Given the description of an element on the screen output the (x, y) to click on. 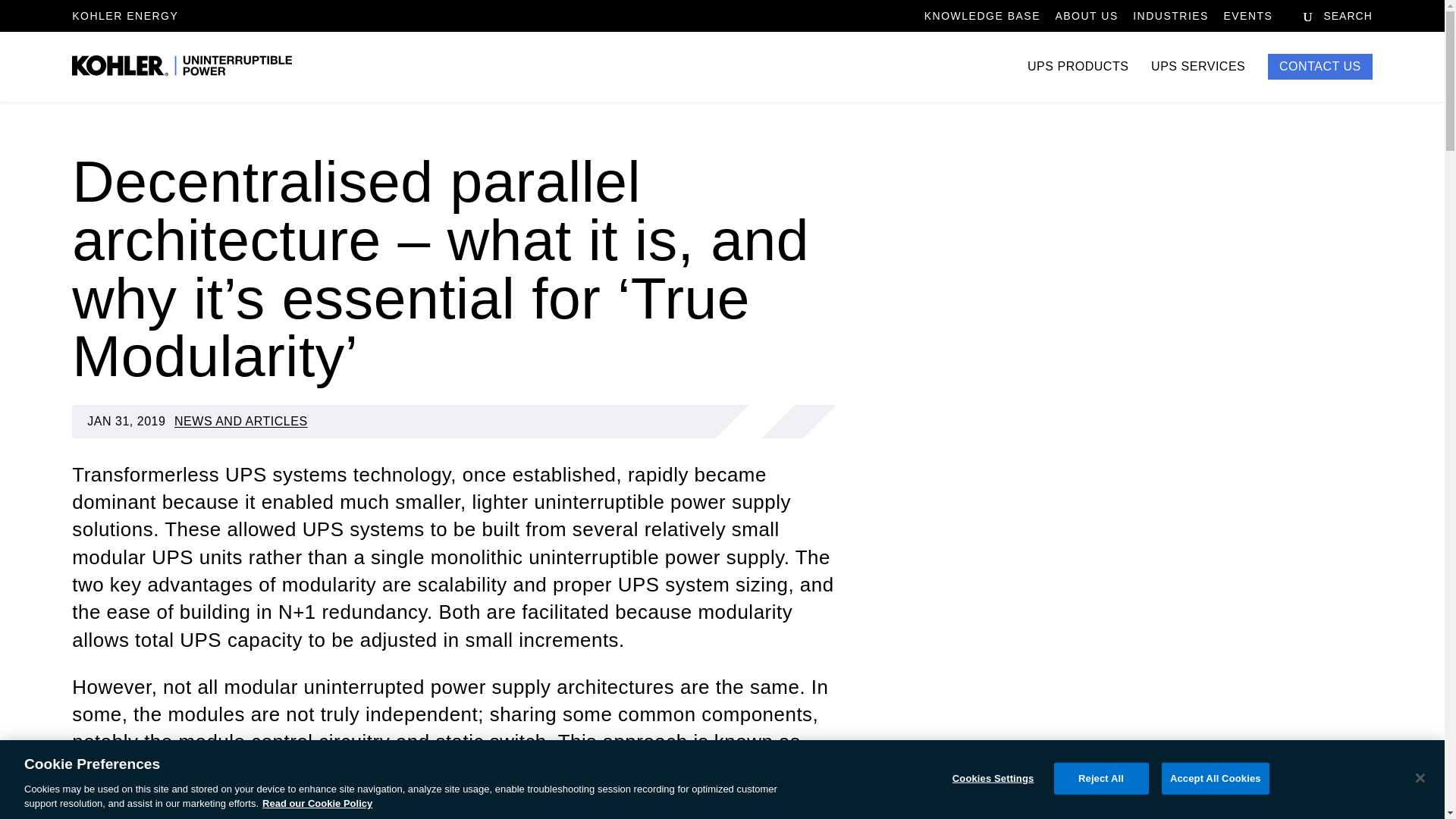
KNOWLEDGE BASE (982, 19)
EVENTS (1247, 19)
ABOUT US (1086, 19)
UPS SERVICES (1197, 81)
UPS PRODUCTS (1077, 81)
KOHLER ENERGY (124, 15)
INDUSTRIES (1170, 19)
Logo (181, 66)
